Given the description of an element on the screen output the (x, y) to click on. 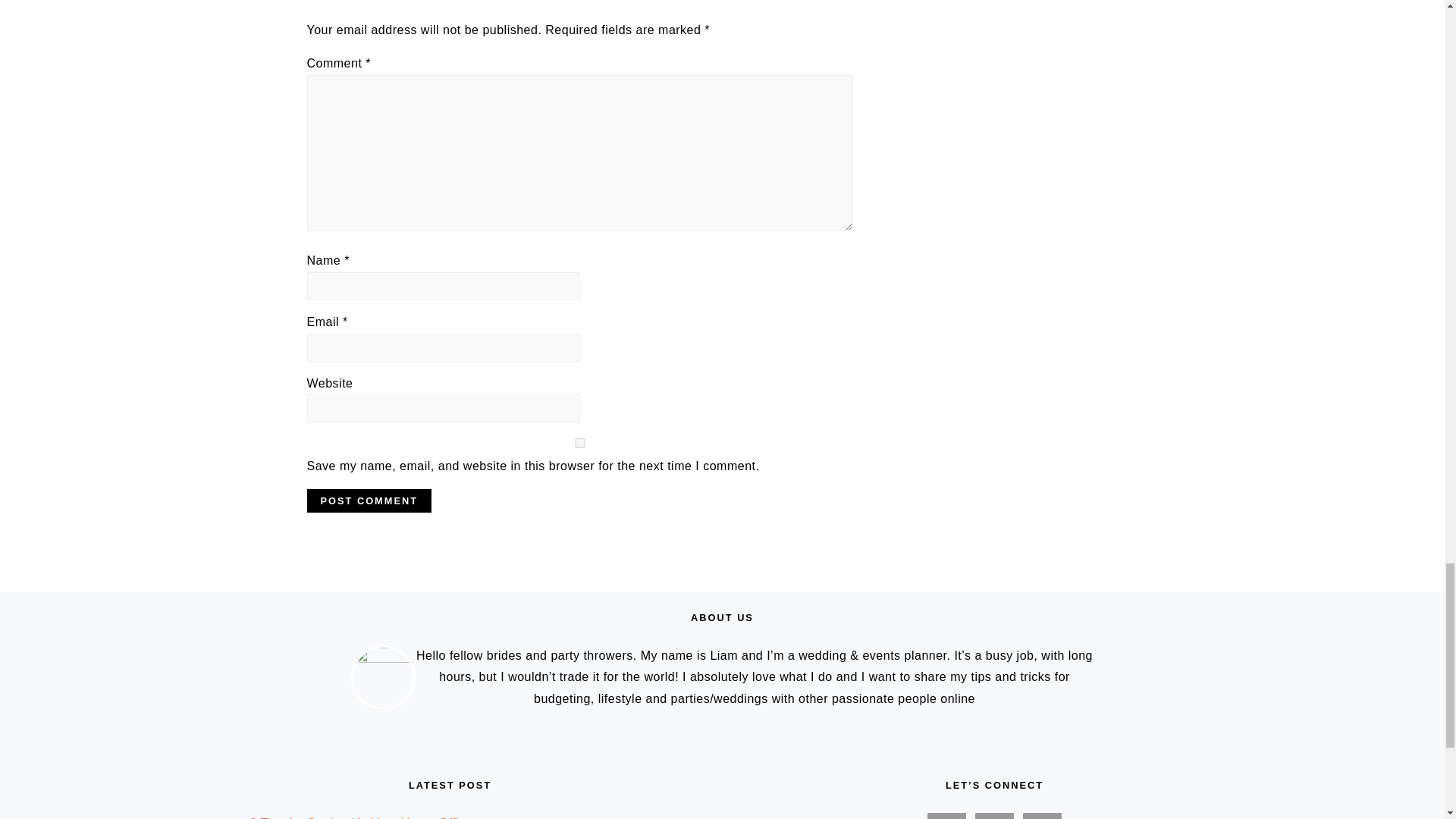
Post Comment (367, 500)
yes (578, 442)
Post Comment (367, 500)
